Given the description of an element on the screen output the (x, y) to click on. 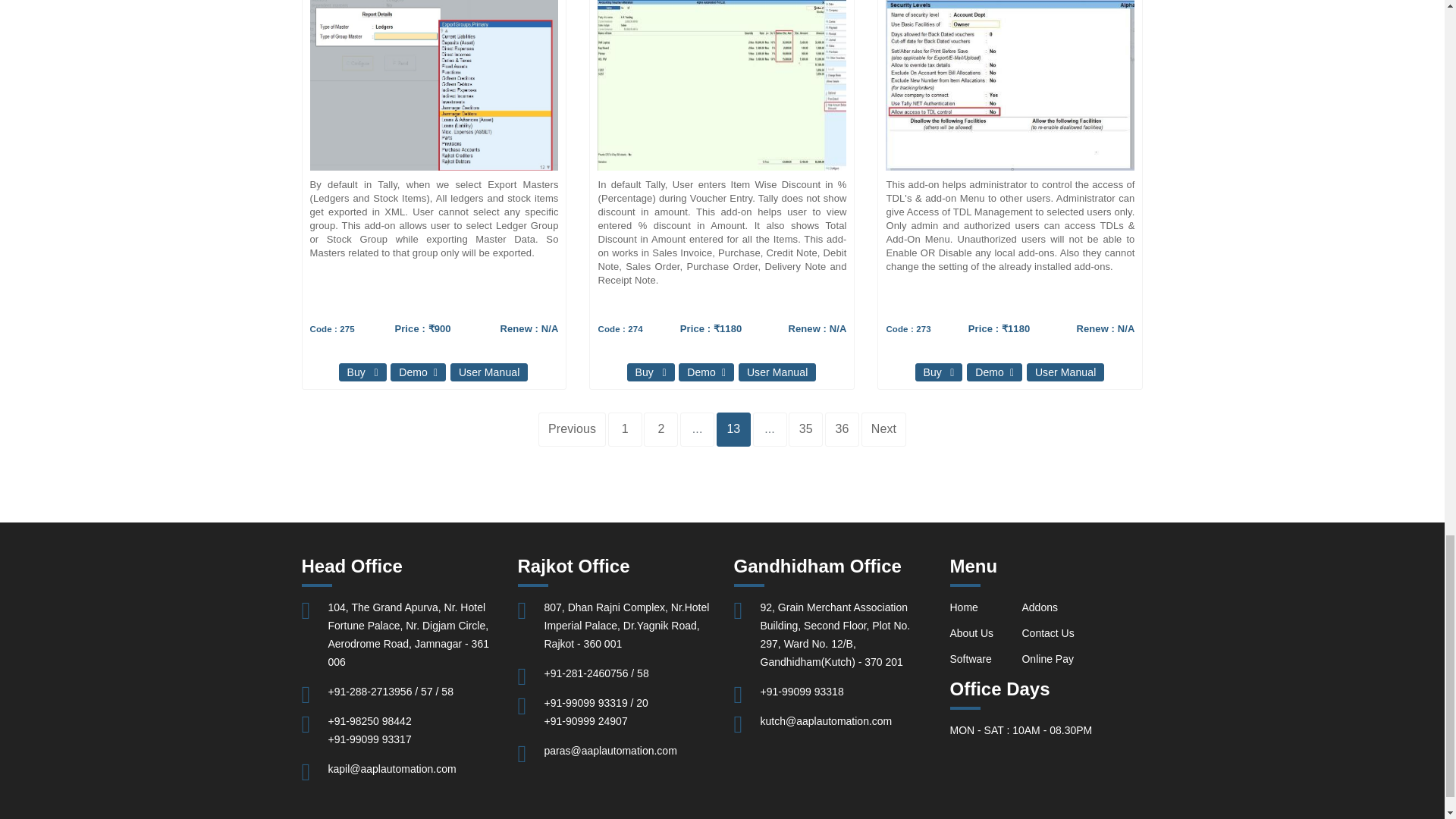
Show Item wise Discount in Voucher Entry (602, 9)
